Given the description of an element on the screen output the (x, y) to click on. 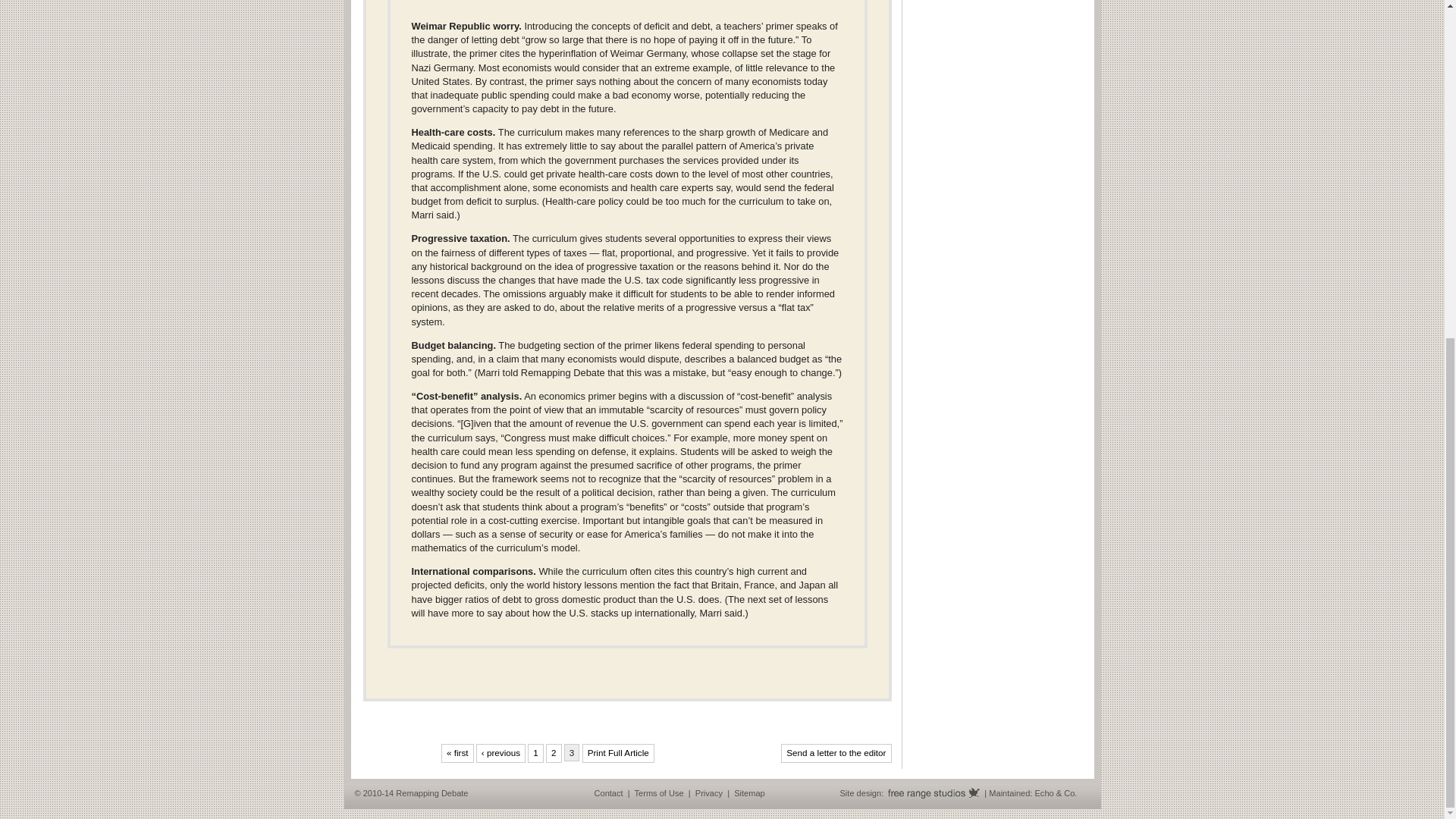
Send a letter to the editor (835, 752)
Privacy (708, 792)
Contact (608, 792)
Free Range Studios (933, 793)
Go to previous page (500, 752)
Sitemap (749, 792)
Print Full Article (617, 752)
Go to first page (457, 752)
Terms of Use (659, 792)
Ech (1040, 792)
